Given the description of an element on the screen output the (x, y) to click on. 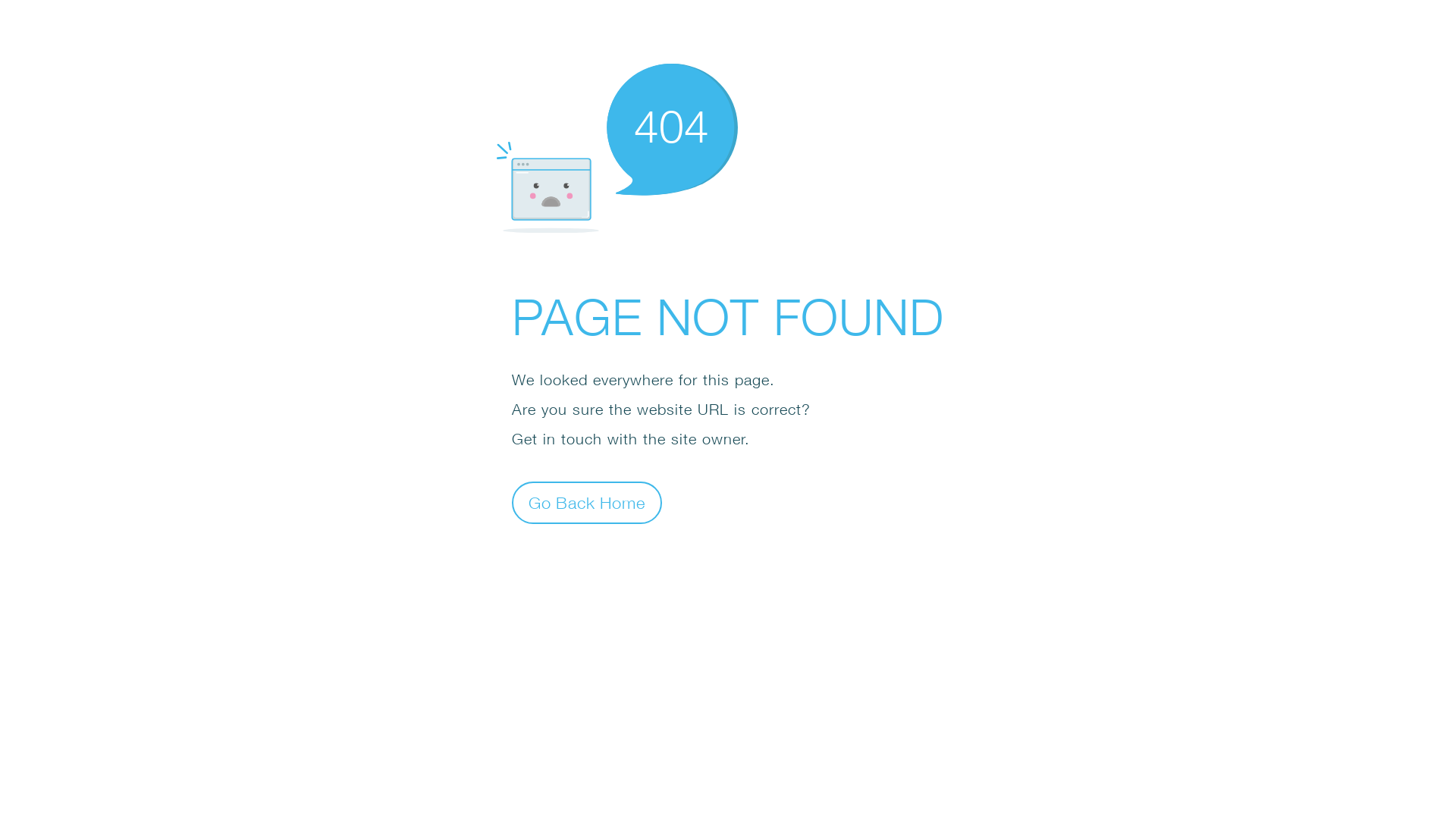
Go Back Home Element type: text (586, 502)
